Given the description of an element on the screen output the (x, y) to click on. 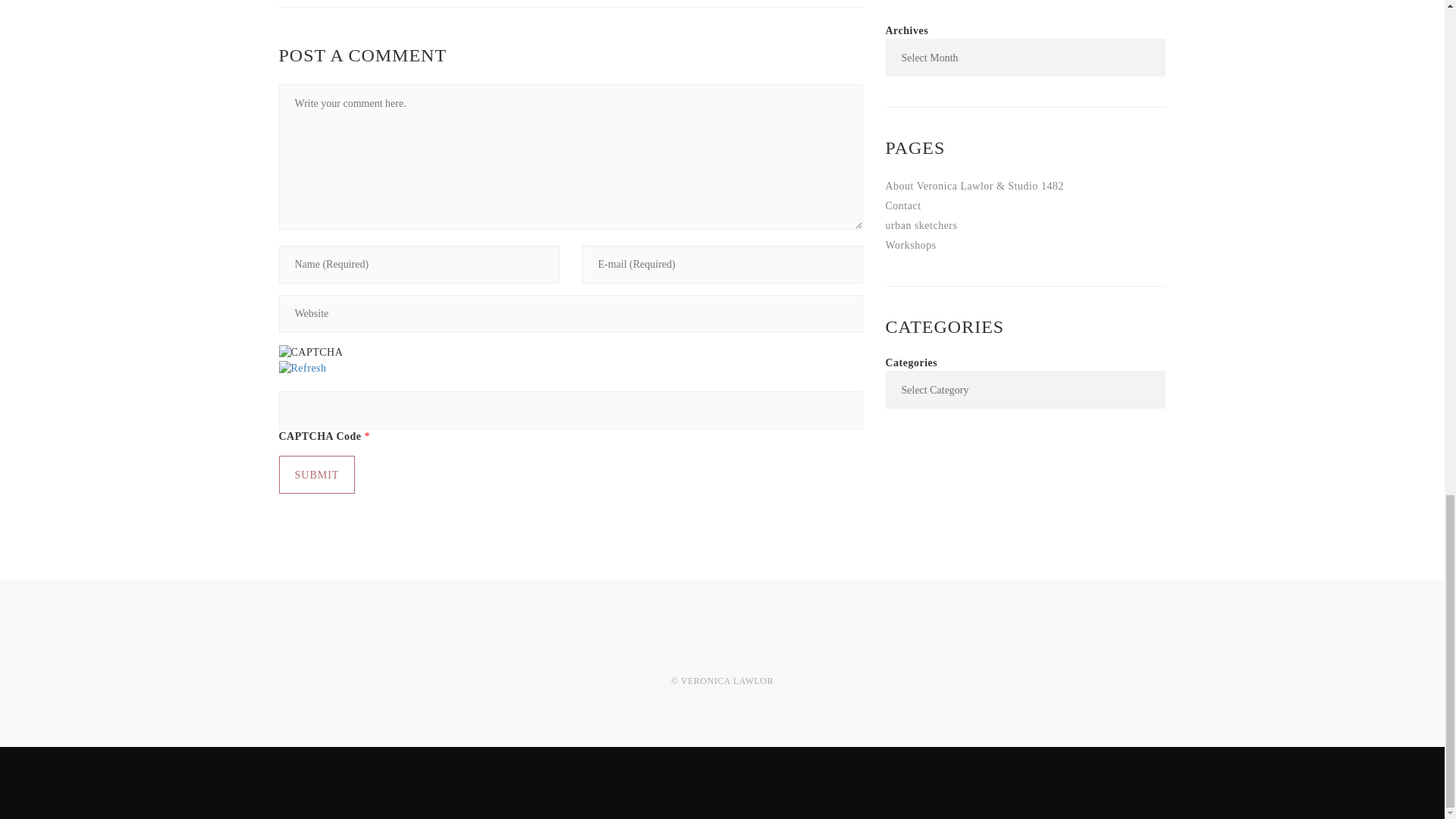
Submit (317, 474)
Submit (317, 474)
Refresh (302, 367)
CAPTCHA (311, 352)
